Given the description of an element on the screen output the (x, y) to click on. 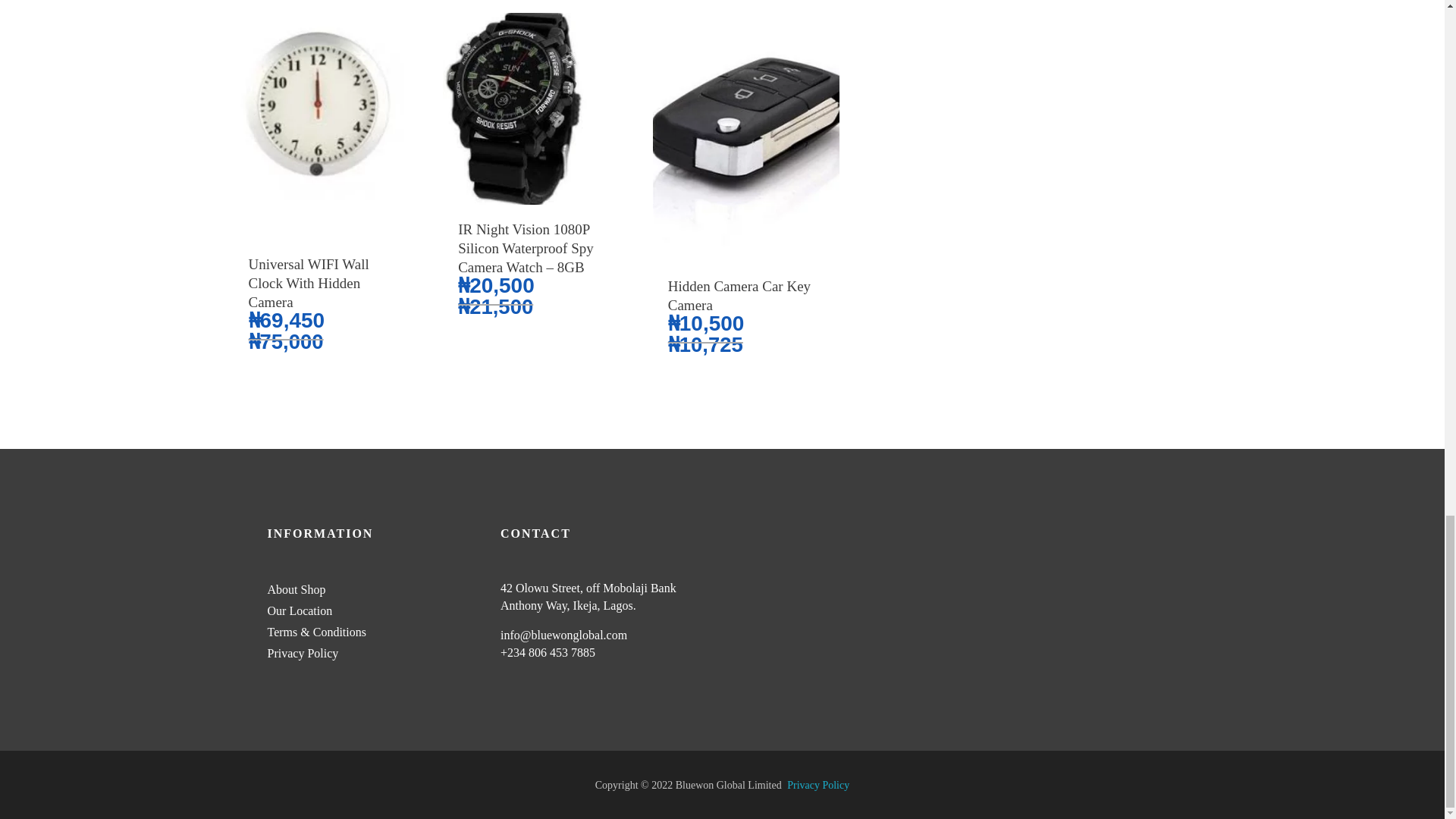
Universal WIFI Wall Clock With Hidden Camera (327, 283)
Hidden Camera Car Key Camera (746, 295)
